Given the description of an element on the screen output the (x, y) to click on. 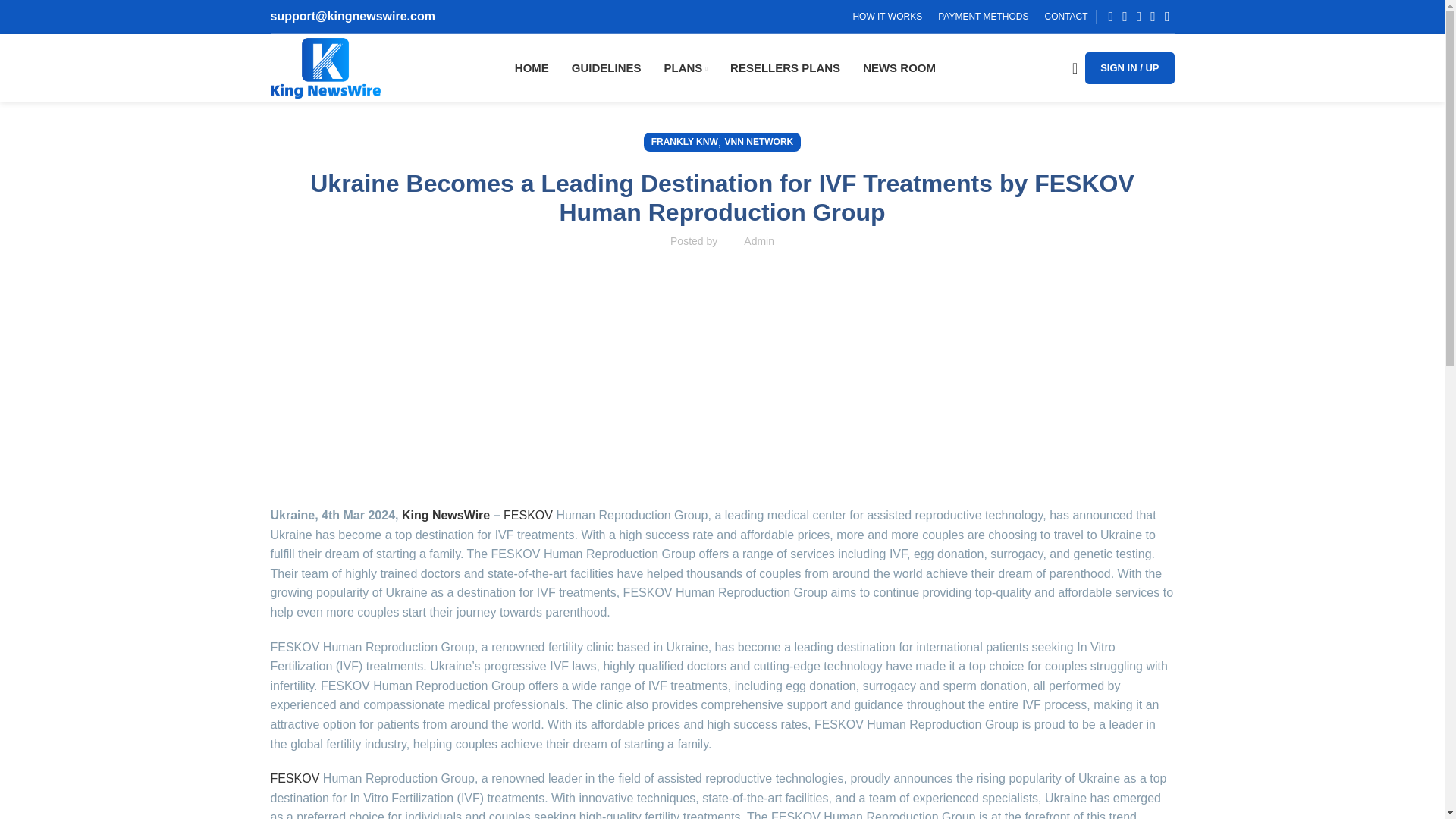
HOME (531, 68)
King NewsWire (445, 514)
GUIDELINES (607, 68)
FESKOV (529, 514)
Admin (759, 241)
NEWS ROOM (899, 68)
RESELLERS PLANS (785, 68)
HOW IT WORKS (886, 16)
CONTACT (1066, 16)
FESKOV (293, 778)
PLANS (685, 68)
PAYMENT METHODS (982, 16)
VNN NETWORK (759, 141)
FRANKLY KNW (683, 141)
